Given the description of an element on the screen output the (x, y) to click on. 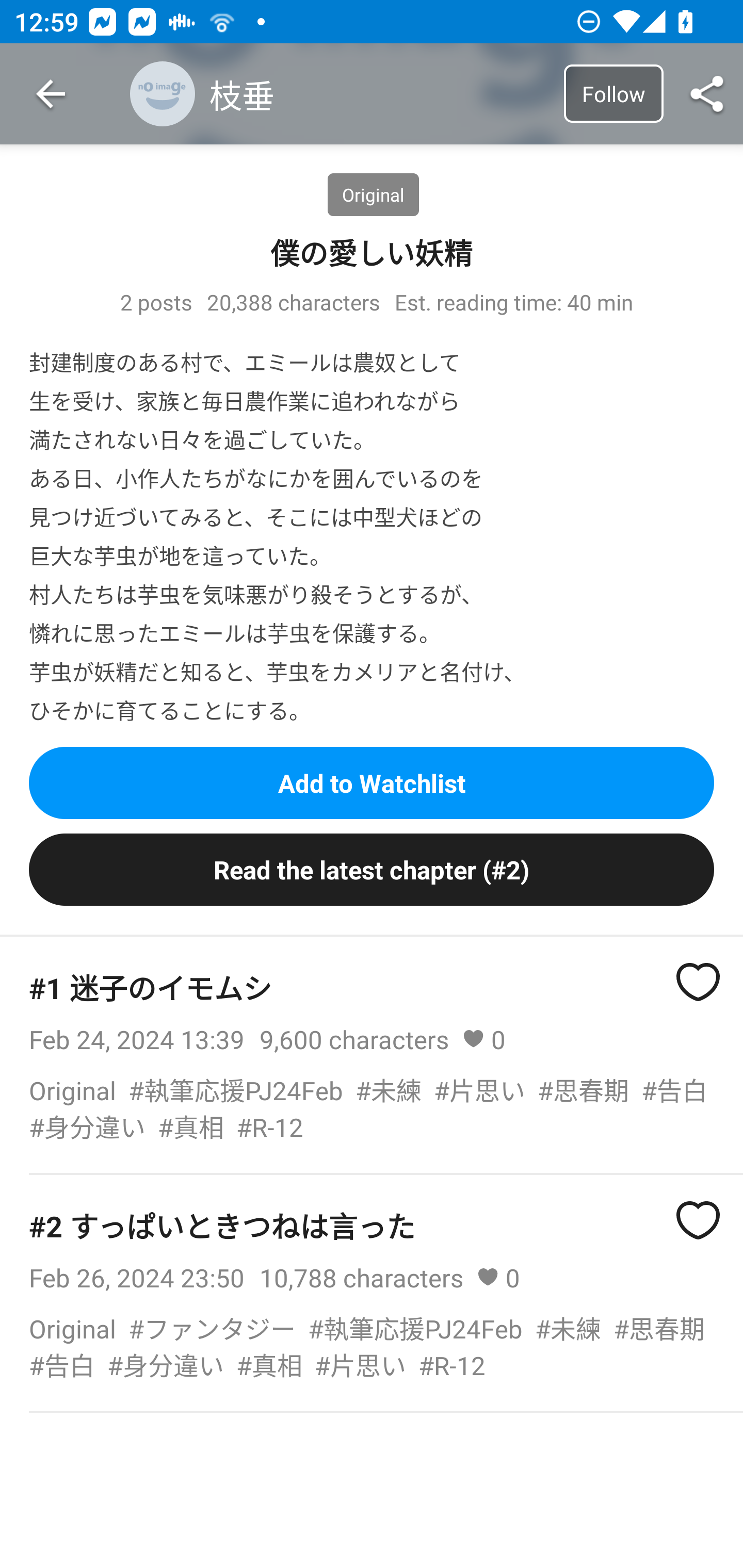
Navigate up (50, 93)
Share (706, 93)
枝垂 (343, 94)
Follow (613, 93)
Add to Watchlist (371, 782)
Read the latest chapter (#2) (371, 870)
